Given the description of an element on the screen output the (x, y) to click on. 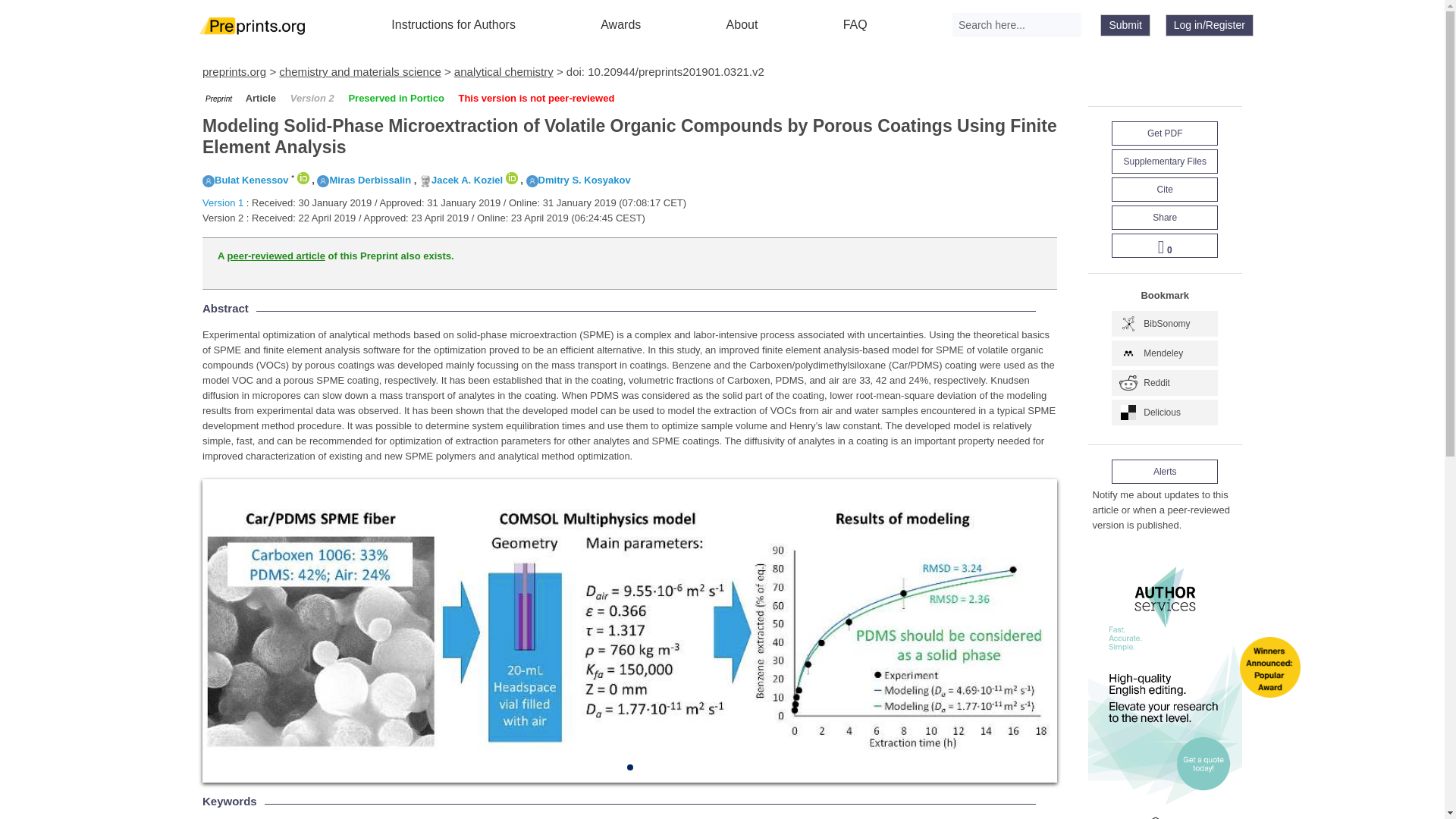
peer-reviewed article (275, 255)
Bulat Kenessov (245, 179)
Instructions for Authors (453, 24)
chemistry and materials science (360, 71)
ORCID (511, 177)
Jacek A. Koziel (460, 179)
Dmitry S. Kosyakov (577, 179)
Miras Derbissalin (363, 179)
preprints.org (234, 71)
Submit (1125, 25)
Version 1 (222, 202)
ORCID (302, 177)
analytical chemistry (503, 71)
